Given the description of an element on the screen output the (x, y) to click on. 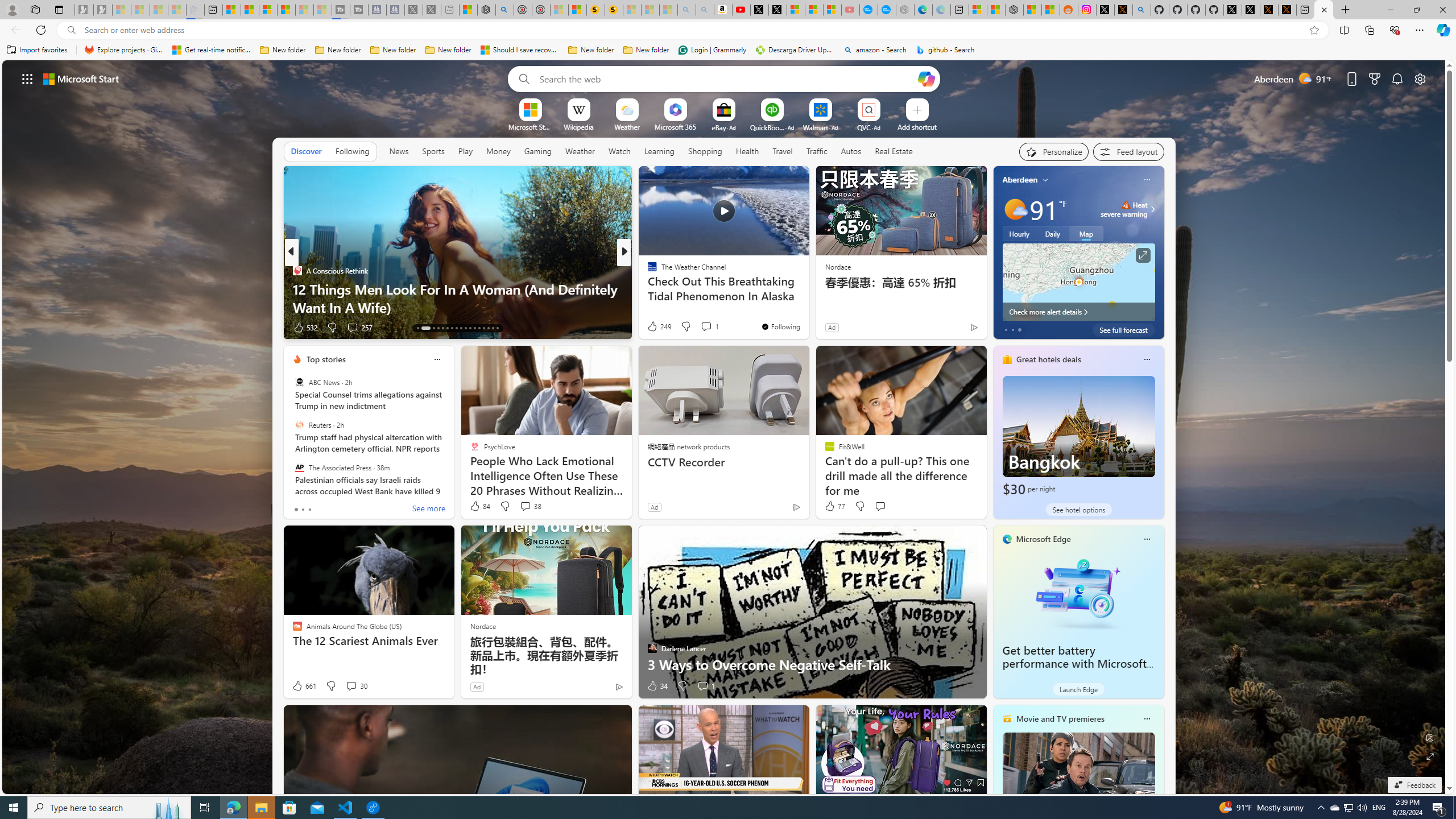
Autos (850, 151)
Class: weather-arrow-glyph (1152, 208)
View comments 30 Comment (350, 685)
AutomationID: tab-22 (465, 328)
View comments 2 Comment (694, 327)
Newsweek (647, 270)
This story is trending (951, 329)
117 Like (654, 327)
View comments 26 Comment (707, 327)
Great hotels deals (1048, 359)
